Given the description of an element on the screen output the (x, y) to click on. 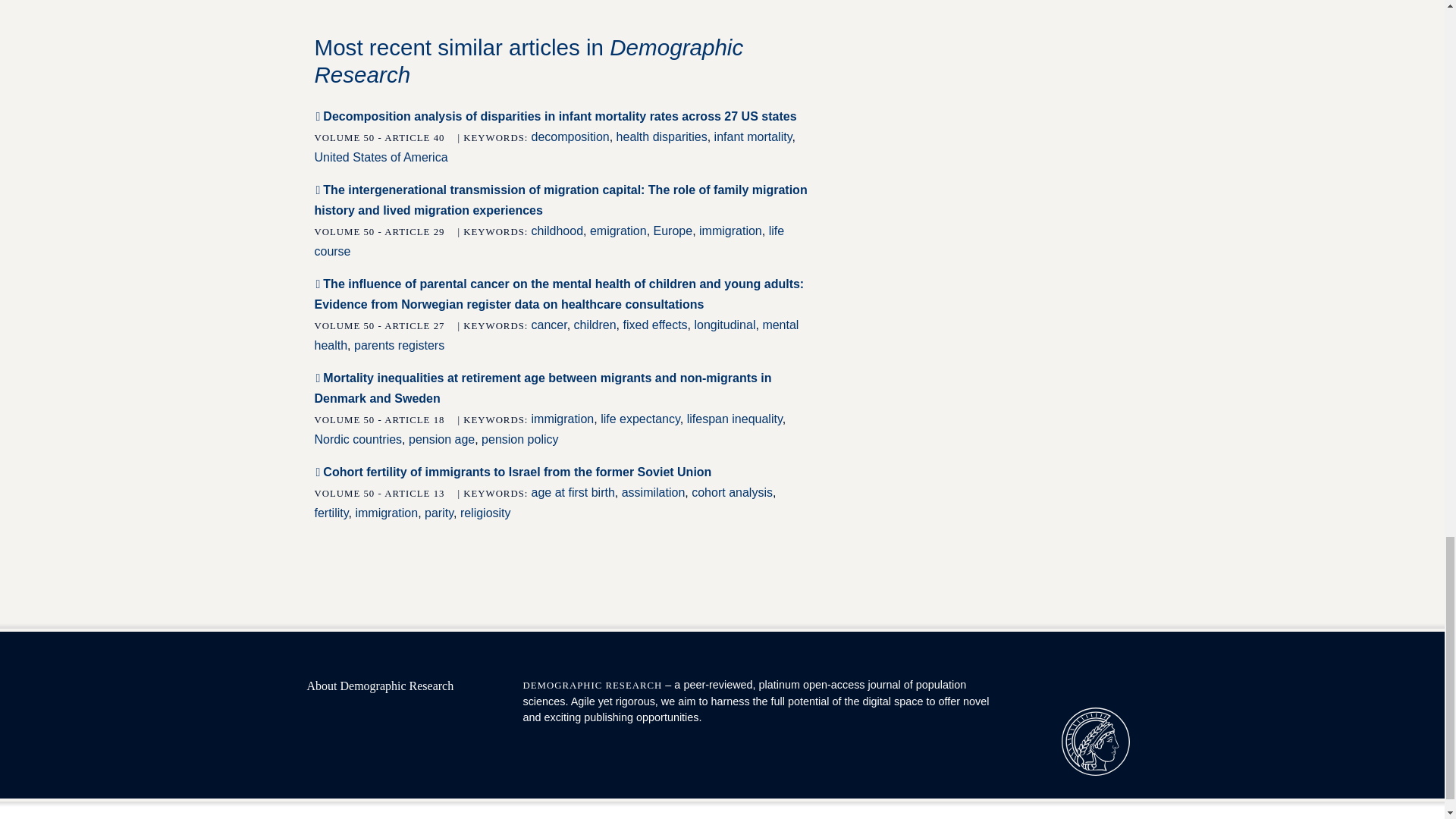
Max Planck Society (1095, 741)
Max Planck Society (1095, 739)
